Given the description of an element on the screen output the (x, y) to click on. 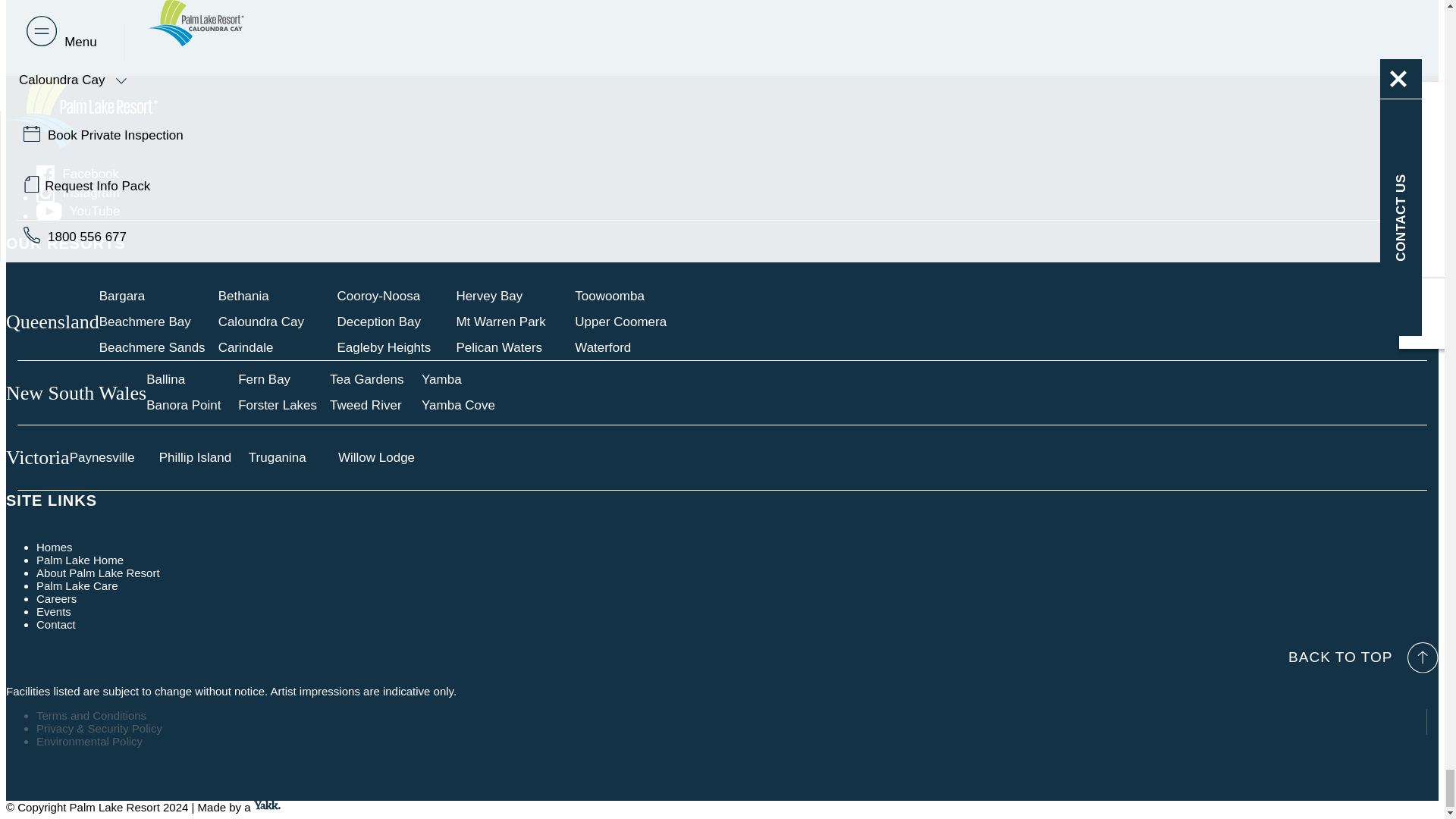
Palm Lake Resort (81, 144)
